Given the description of an element on the screen output the (x, y) to click on. 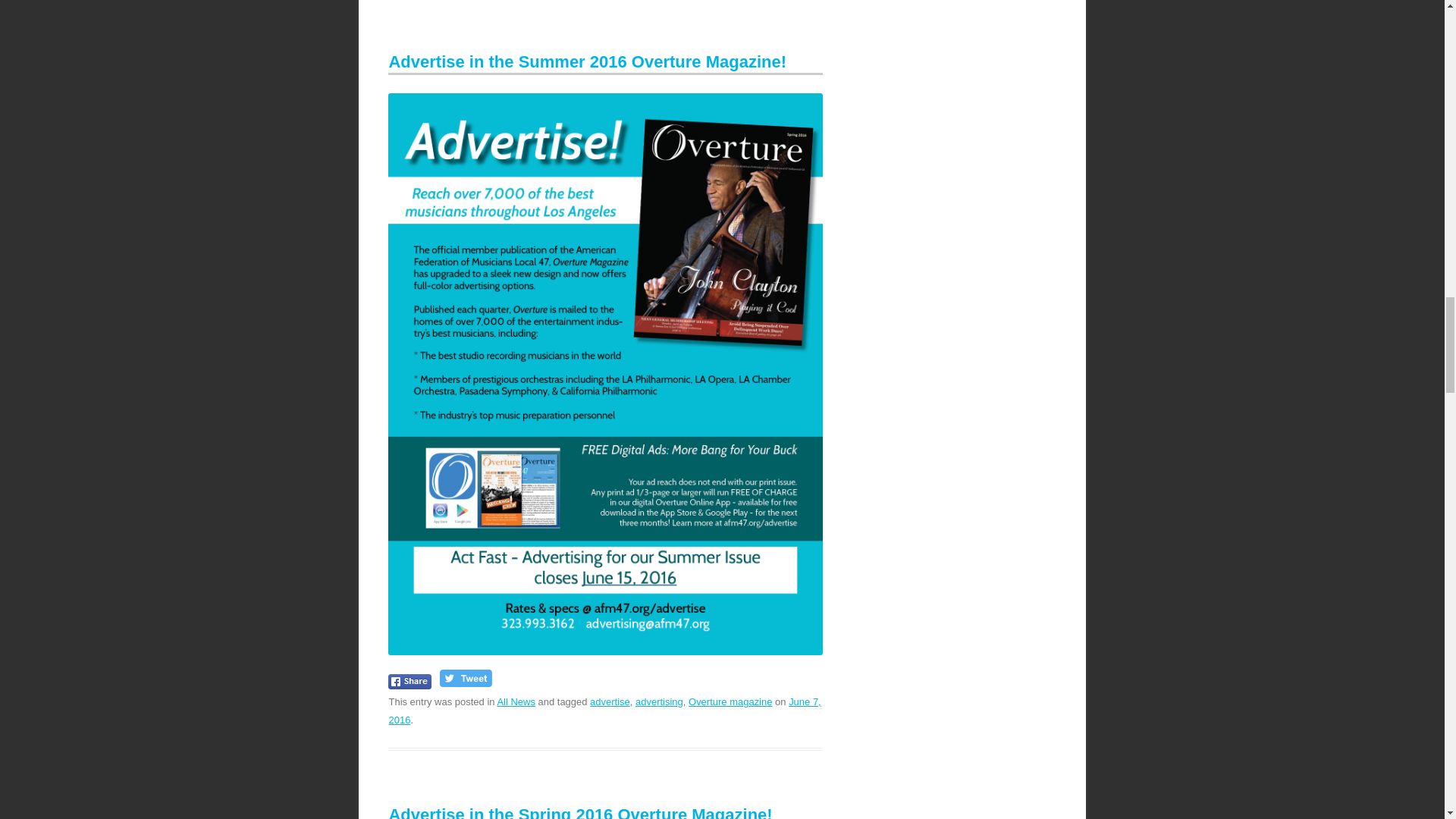
Facebook Share (409, 681)
Tweet (465, 678)
Advertise in the Summer 2016 Overture Magazine! (587, 61)
